Given the description of an element on the screen output the (x, y) to click on. 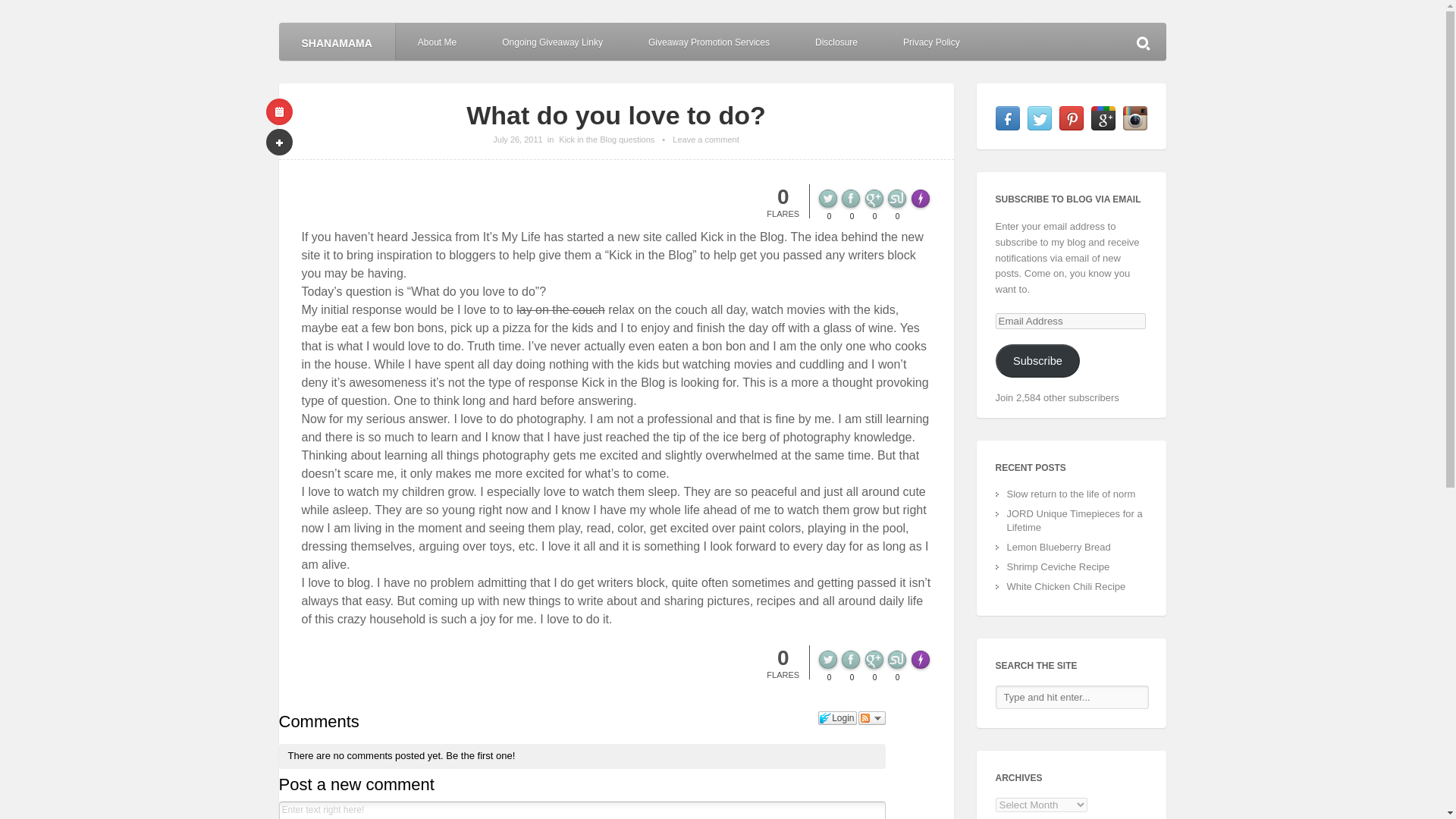
Leave a comment (705, 139)
July 26, 2011 (517, 139)
Login (837, 717)
SHANAMAMA (336, 41)
Privacy Policy (931, 41)
Giveaway Promotion Services (709, 41)
What do you love to do? (615, 114)
Ongoing Giveaway Linky (552, 41)
Kick in the Blog questions (606, 139)
What do you love to do? (517, 139)
Disclosure (836, 41)
About Me (436, 41)
